Given the description of an element on the screen output the (x, y) to click on. 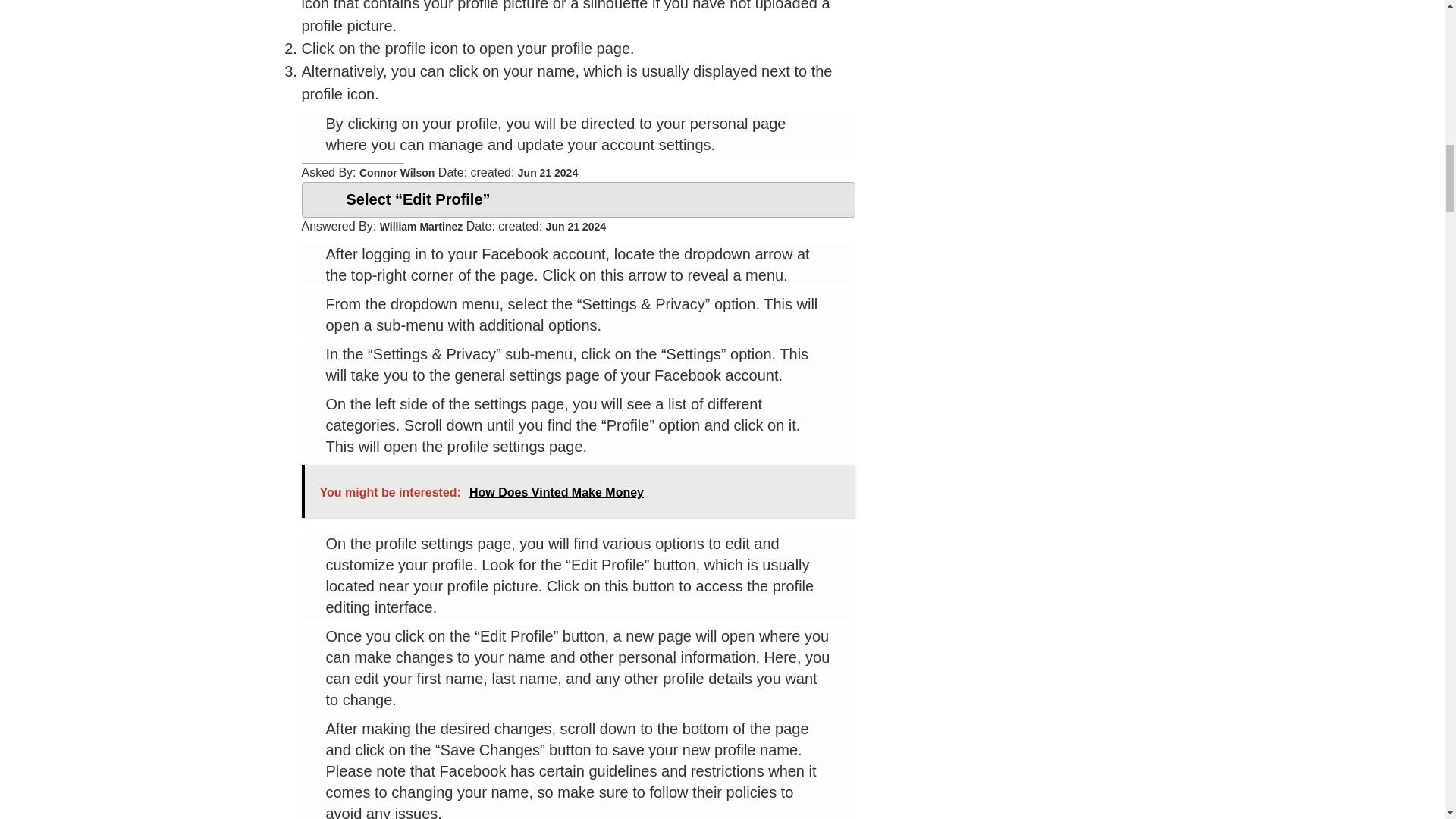
You might be interested:  How Does Vinted Make Money (578, 491)
